Given the description of an element on the screen output the (x, y) to click on. 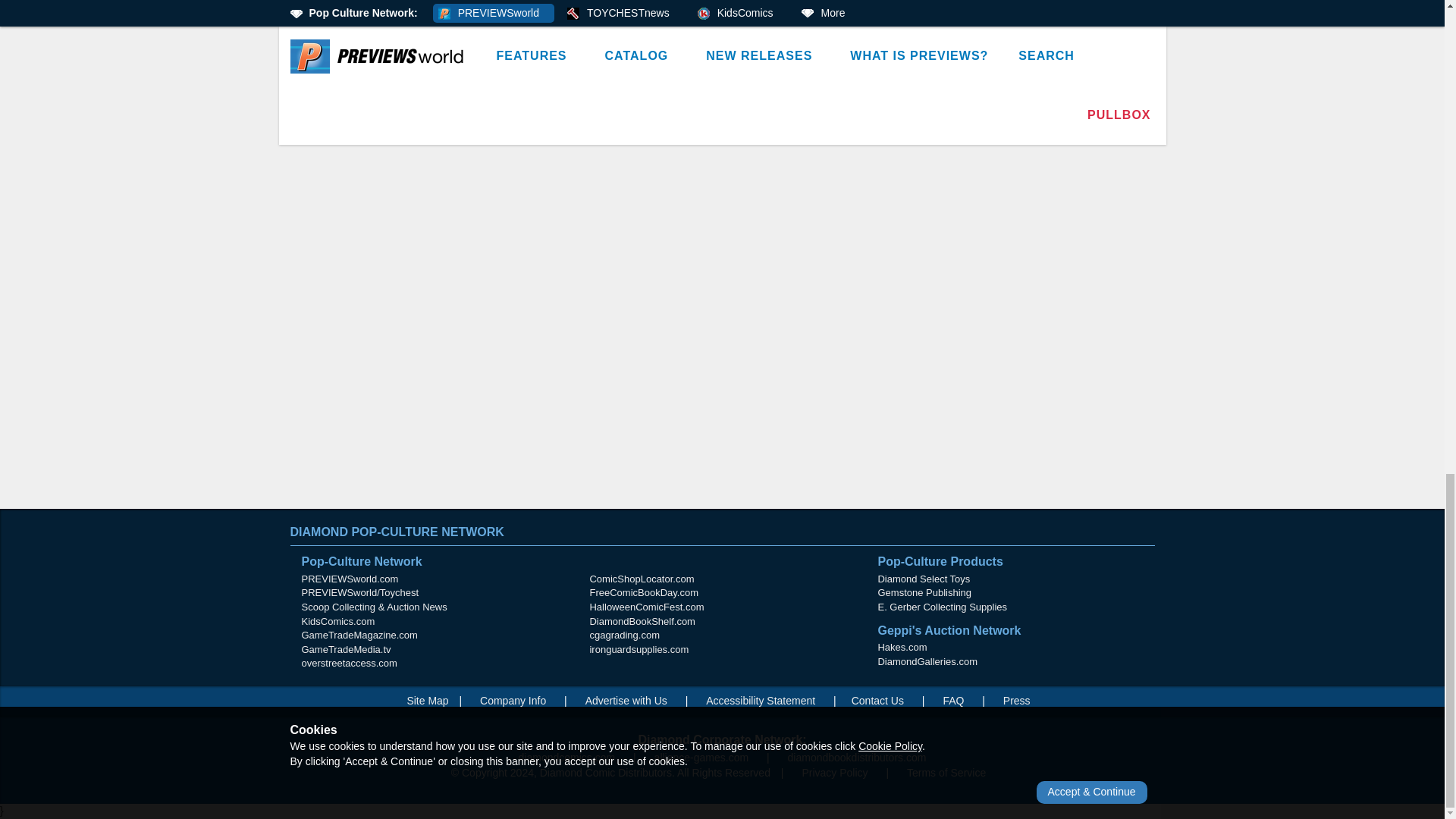
3rd party ad content (722, 428)
